Given the description of an element on the screen output the (x, y) to click on. 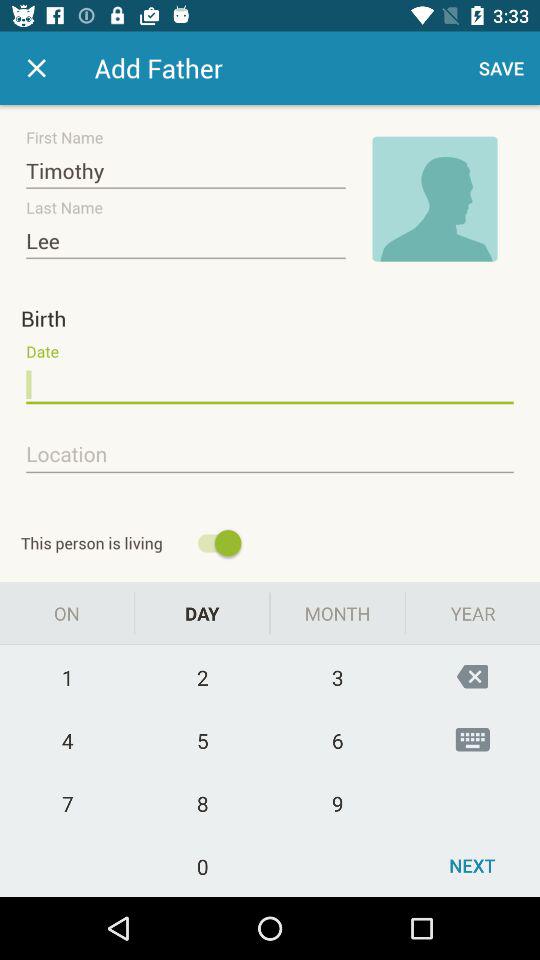
close button (36, 68)
